Given the description of an element on the screen output the (x, y) to click on. 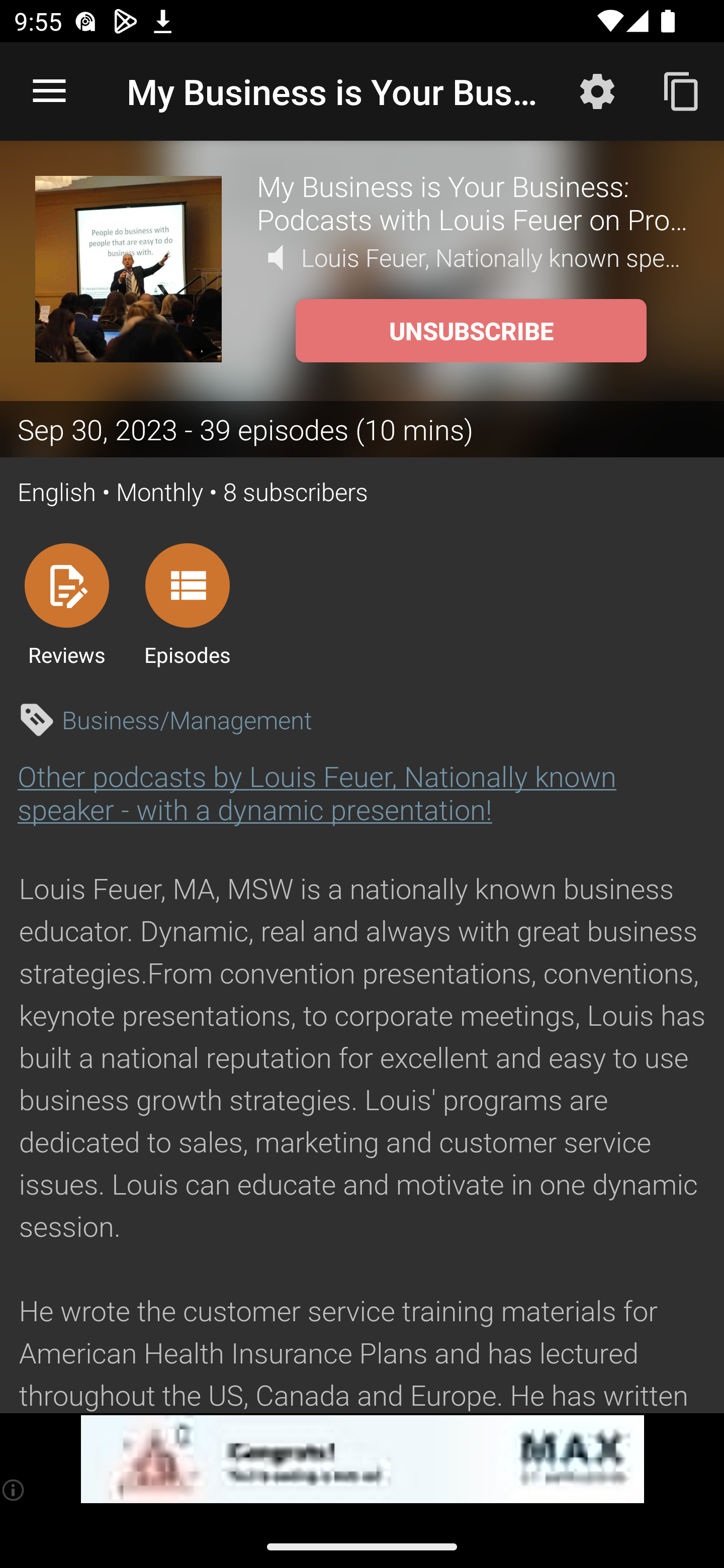
Open navigation sidebar (49, 91)
Settings (597, 90)
Copy feed url to clipboard (681, 90)
UNSUBSCRIBE (470, 330)
Reviews (66, 604)
Episodes (187, 604)
app-monetization (362, 1459)
(i) (14, 1489)
